Given the description of an element on the screen output the (x, y) to click on. 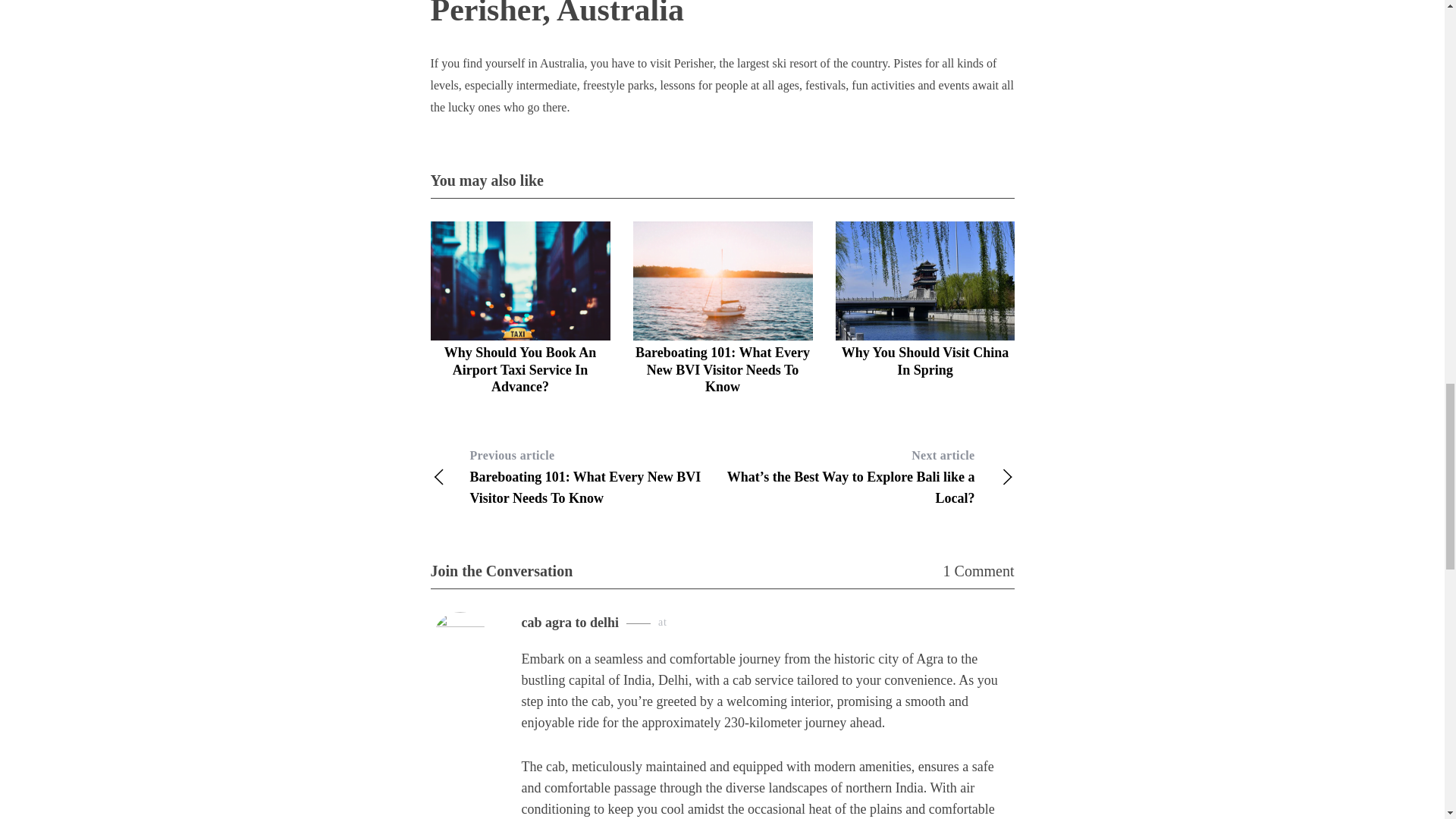
Why You Should Visit China In Spring (925, 360)
Bareboating 101: What Every New BVI Visitor Needs To Know (721, 368)
